Given the description of an element on the screen output the (x, y) to click on. 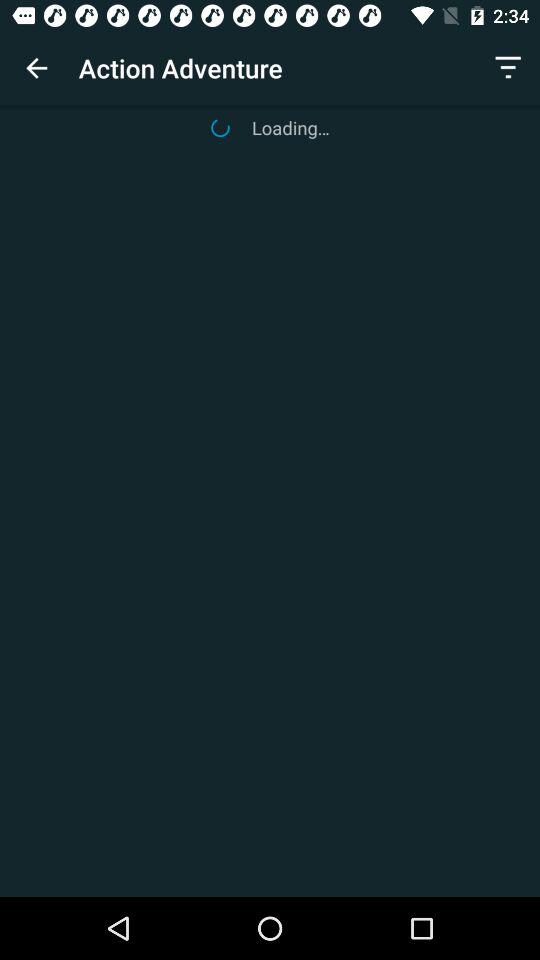
tap item at the top right corner (508, 67)
